Given the description of an element on the screen output the (x, y) to click on. 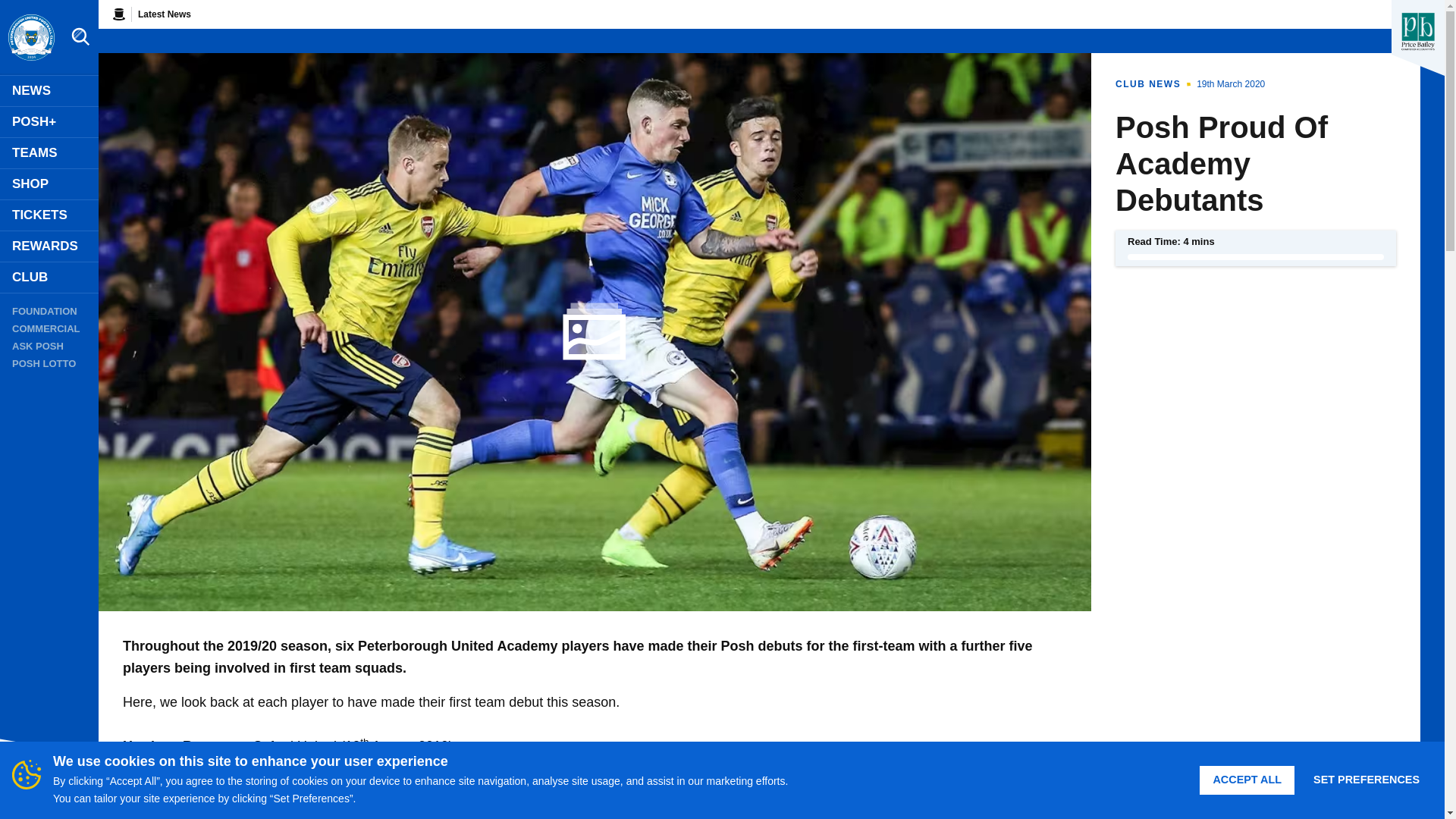
Link to Peterborough United homepage (31, 37)
News (49, 91)
TEAMS (49, 153)
NEWS (49, 91)
